Given the description of an element on the screen output the (x, y) to click on. 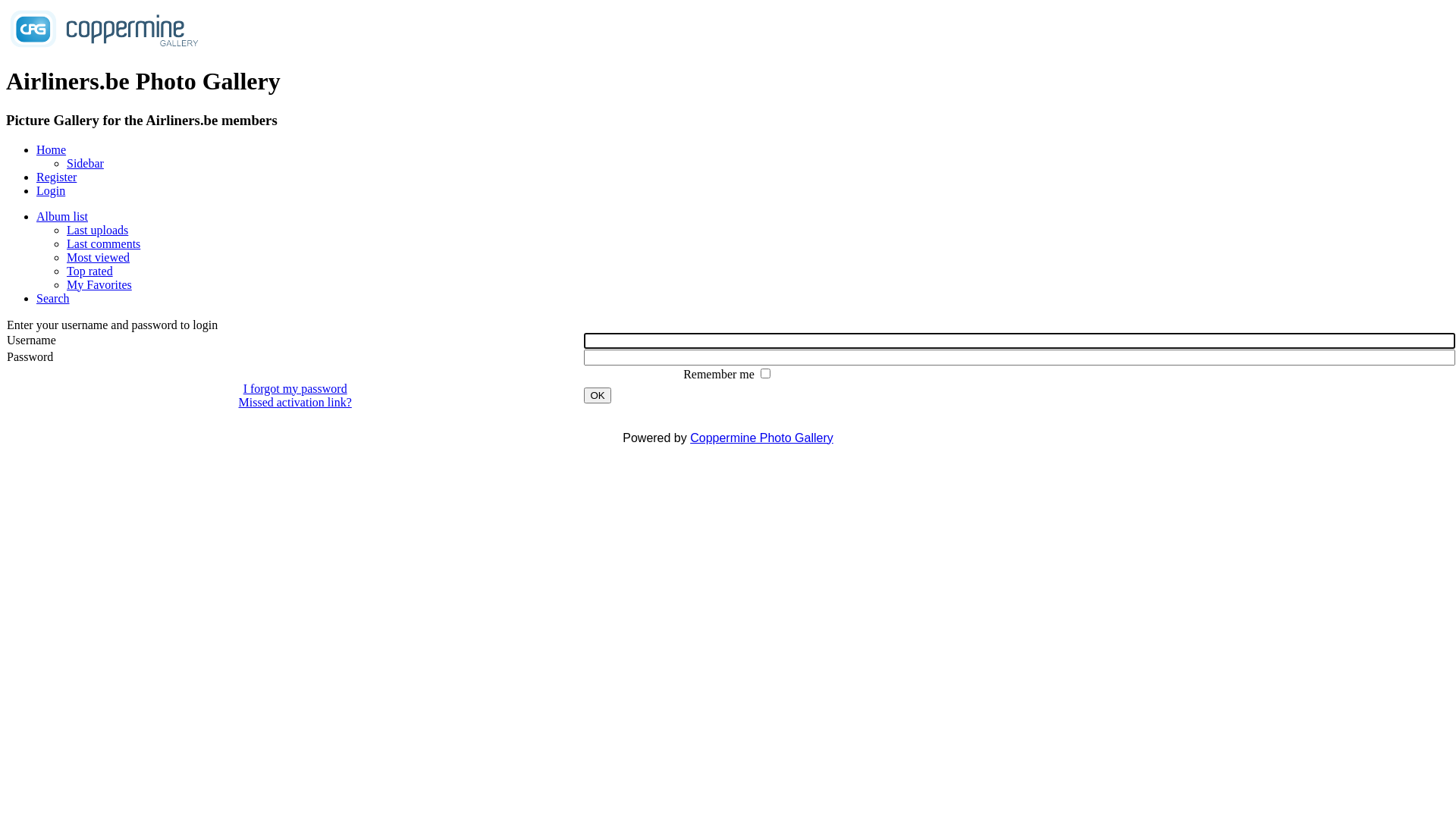
I forgot my password Element type: text (295, 388)
My Favorites Element type: text (98, 284)
Top rated Element type: text (89, 270)
Coppermine Photo Gallery Element type: text (761, 437)
Home Element type: text (50, 149)
Most viewed Element type: text (97, 257)
OK Element type: text (596, 395)
Register Element type: text (56, 176)
Last comments Element type: text (103, 243)
Sidebar Element type: text (84, 162)
Login Element type: text (50, 190)
Missed activation link? Element type: text (294, 401)
Search Element type: text (52, 297)
Last uploads Element type: text (97, 229)
Album list Element type: text (61, 216)
